Given the description of an element on the screen output the (x, y) to click on. 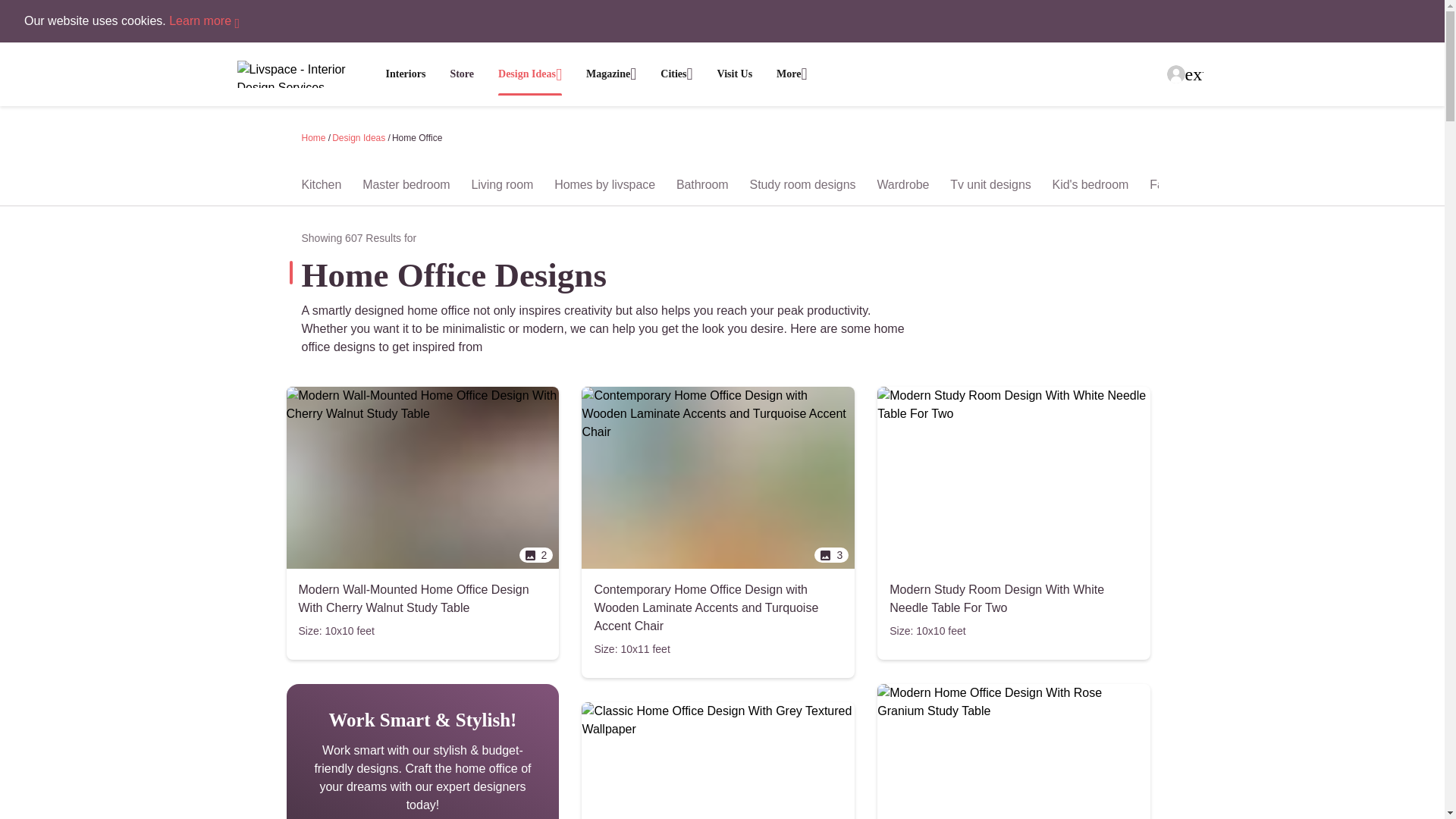
Store (461, 73)
Magazine (611, 74)
Learn more (204, 20)
Interiors (405, 73)
Design Ideas (529, 74)
